Given the description of an element on the screen output the (x, y) to click on. 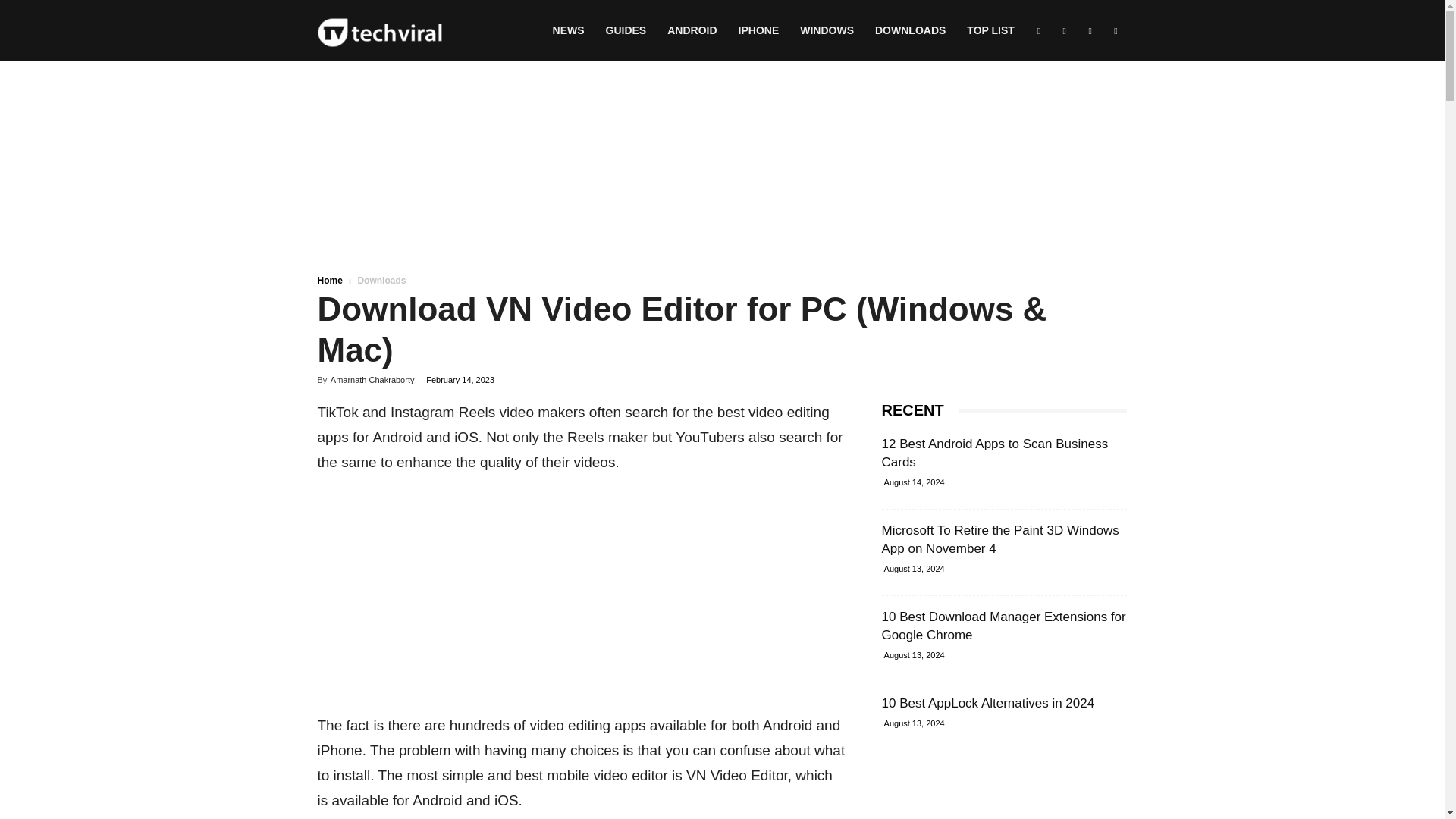
Amarnath Chakraborty (372, 379)
TechViral (379, 30)
IPHONE (759, 30)
Tech Viral (379, 30)
TOP LIST (990, 30)
ANDROID (691, 30)
WINDOWS (826, 30)
GUIDES (626, 30)
Home (329, 280)
DOWNLOADS (910, 30)
